Given the description of an element on the screen output the (x, y) to click on. 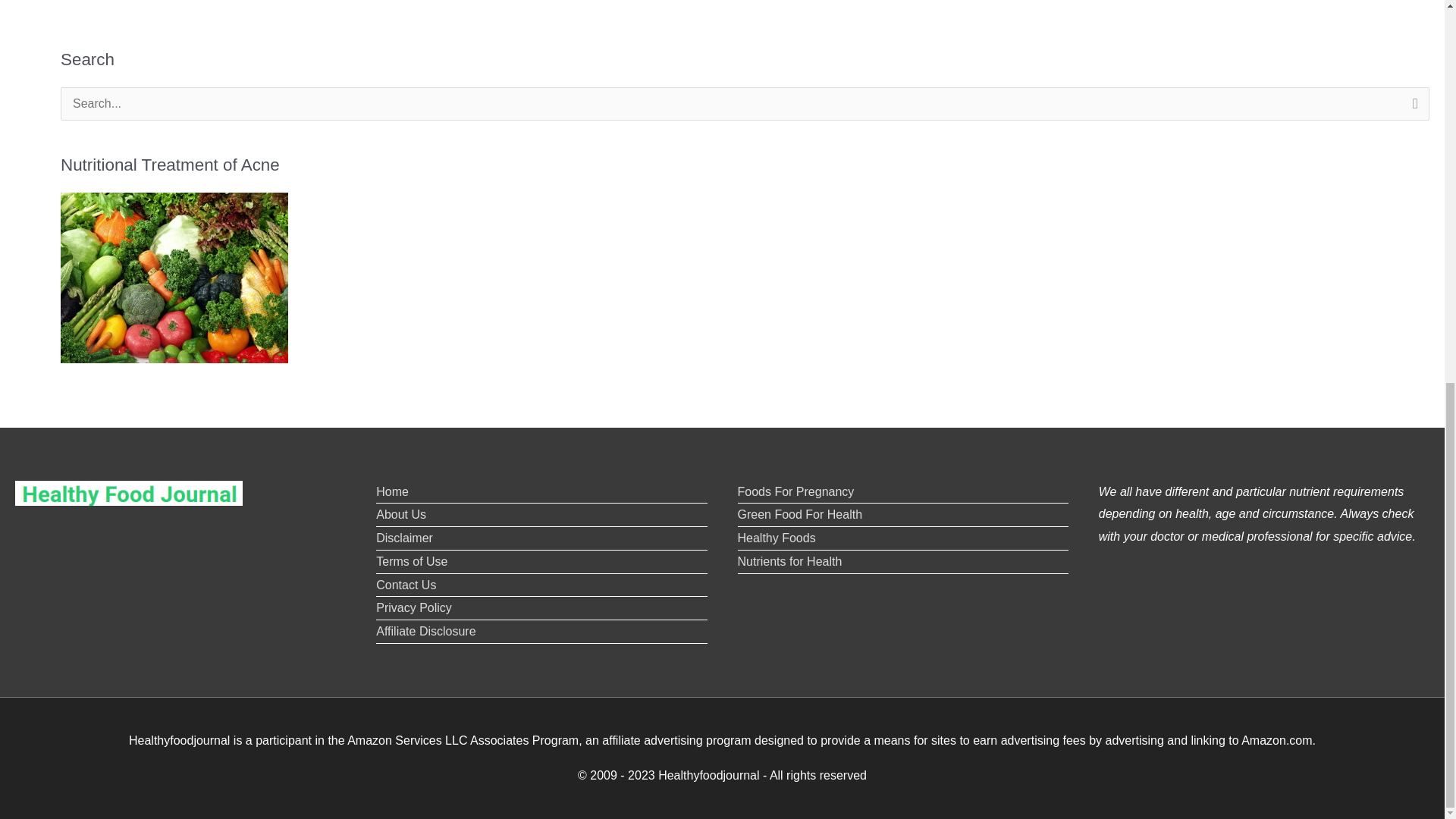
Privacy Policy (413, 607)
Nutrients for Health (788, 561)
Contact Us (405, 584)
Healthy Foods (775, 537)
About Us (400, 513)
Foods For Pregnancy (794, 491)
Terms of Use (410, 561)
Green Food For Health (798, 513)
Home (392, 491)
Affiliate Disclosure (425, 631)
